Given the description of an element on the screen output the (x, y) to click on. 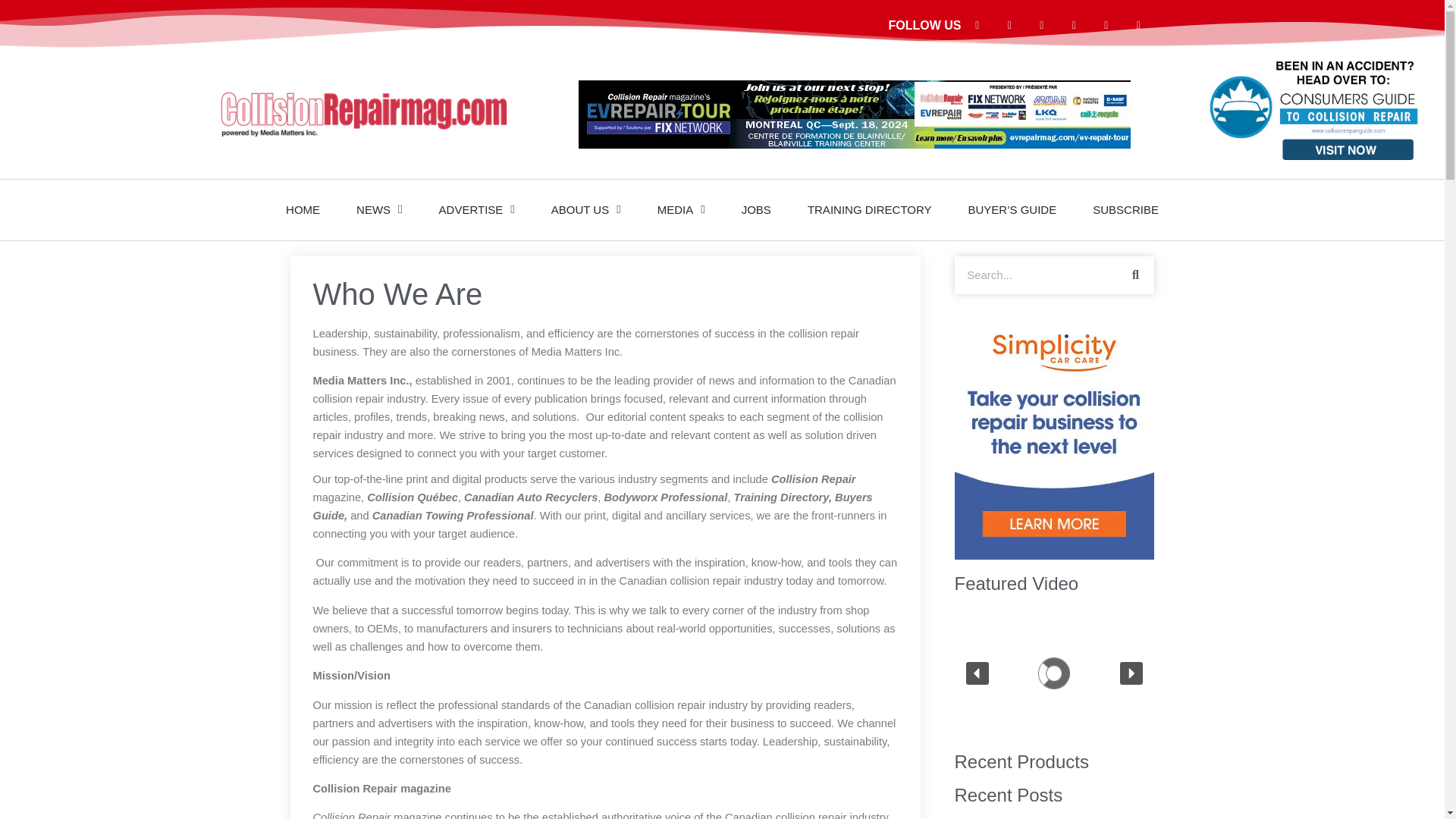
ABOUT US (585, 209)
NEWS (378, 209)
HOME (302, 209)
ADVERTISE (476, 209)
MEDIA (681, 209)
